Given the description of an element on the screen output the (x, y) to click on. 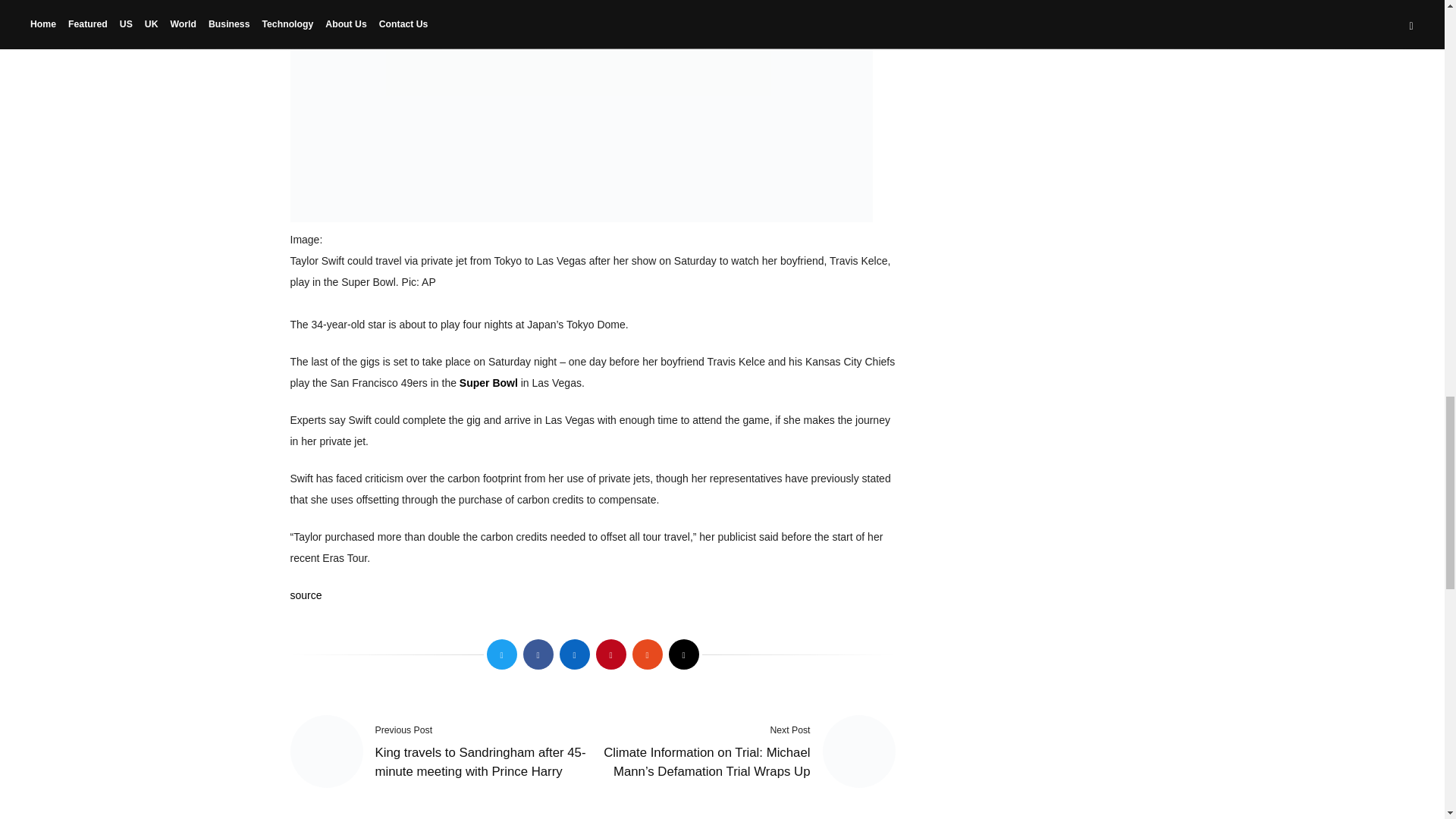
Super Bowl (489, 382)
Share on LinkedIn (574, 654)
Share on Reddit (646, 654)
Share on Facebook (537, 654)
source (305, 594)
Pin this! (610, 654)
Tweet This! (501, 654)
Share on Email (683, 654)
